Given the description of an element on the screen output the (x, y) to click on. 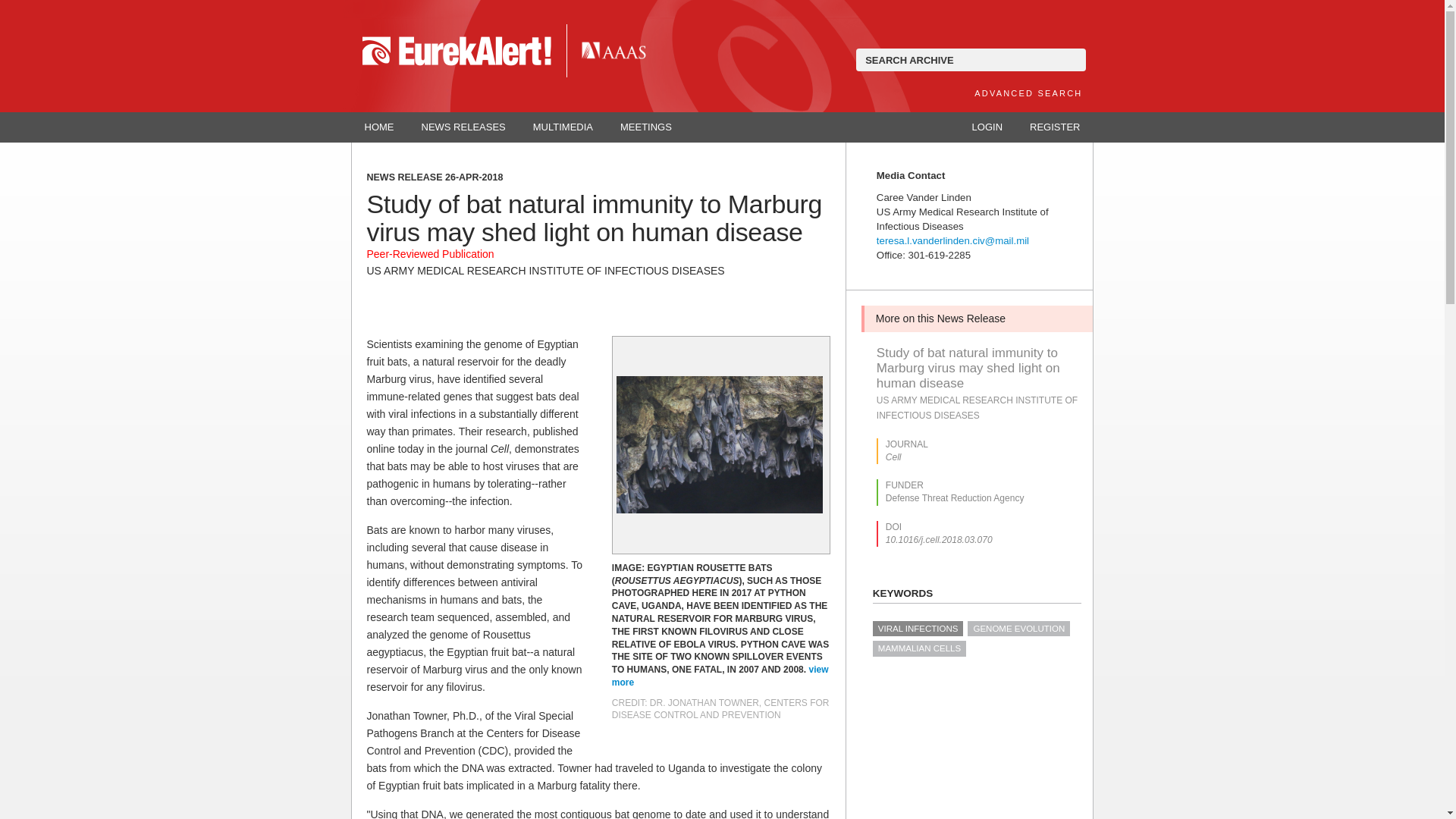
REGISTER (1054, 127)
view more  (719, 675)
MEETINGS (646, 127)
ADVANCED SEARCH (1027, 92)
VIRAL INFECTIONS (917, 628)
HOME (378, 127)
LOGIN (987, 127)
MAMMALIAN CELLS (919, 648)
Peer-Reviewed Publication (430, 254)
